Given the description of an element on the screen output the (x, y) to click on. 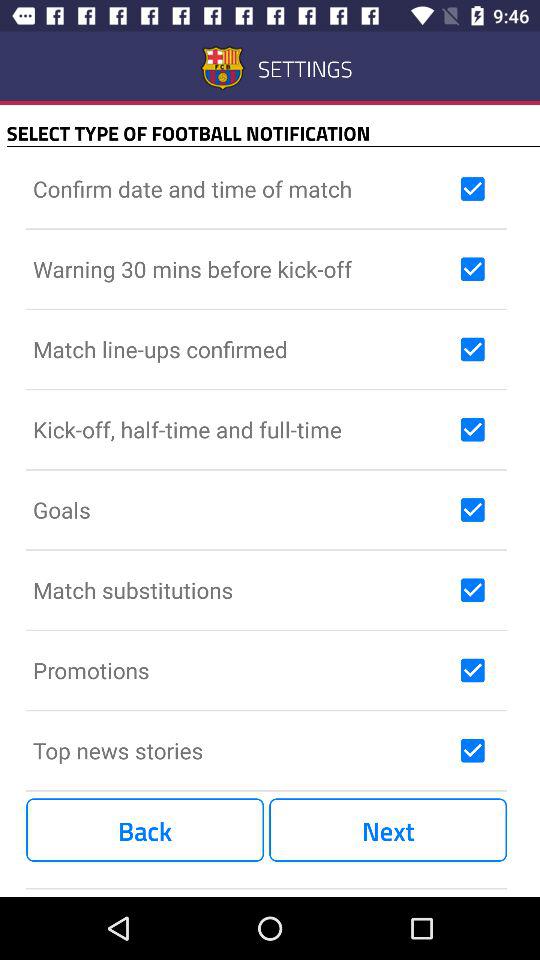
select the item below the select type of icon (242, 188)
